Given the description of an element on the screen output the (x, y) to click on. 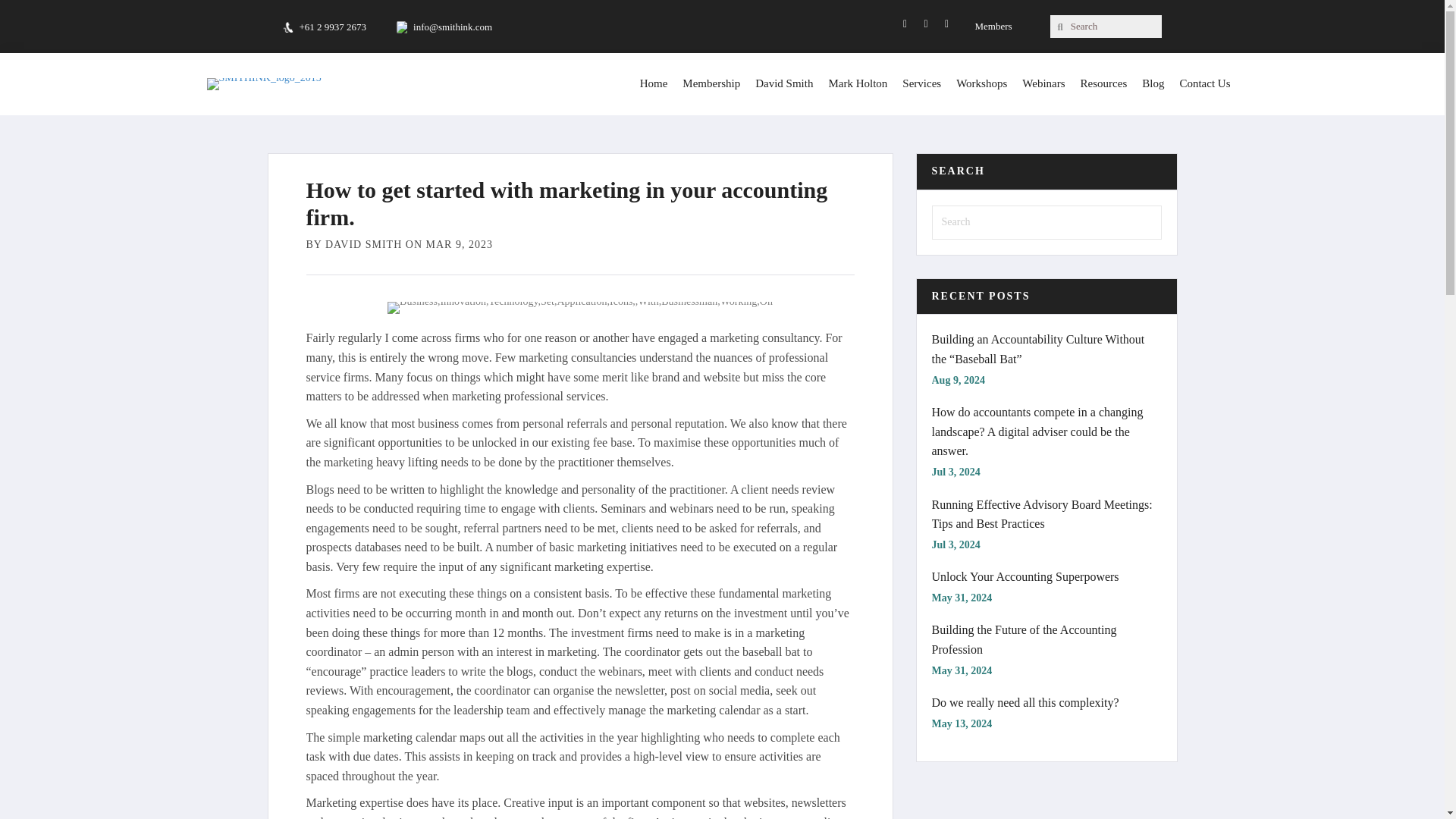
Workshops (981, 83)
Search (1111, 26)
Building the Future of the Accounting Profession (1023, 639)
Mark Holton (858, 83)
Type and press Enter to search. (1045, 222)
Membership (711, 83)
Building the Future of the Accounting Profession (1023, 639)
LinkedIn (925, 23)
